Given the description of an element on the screen output the (x, y) to click on. 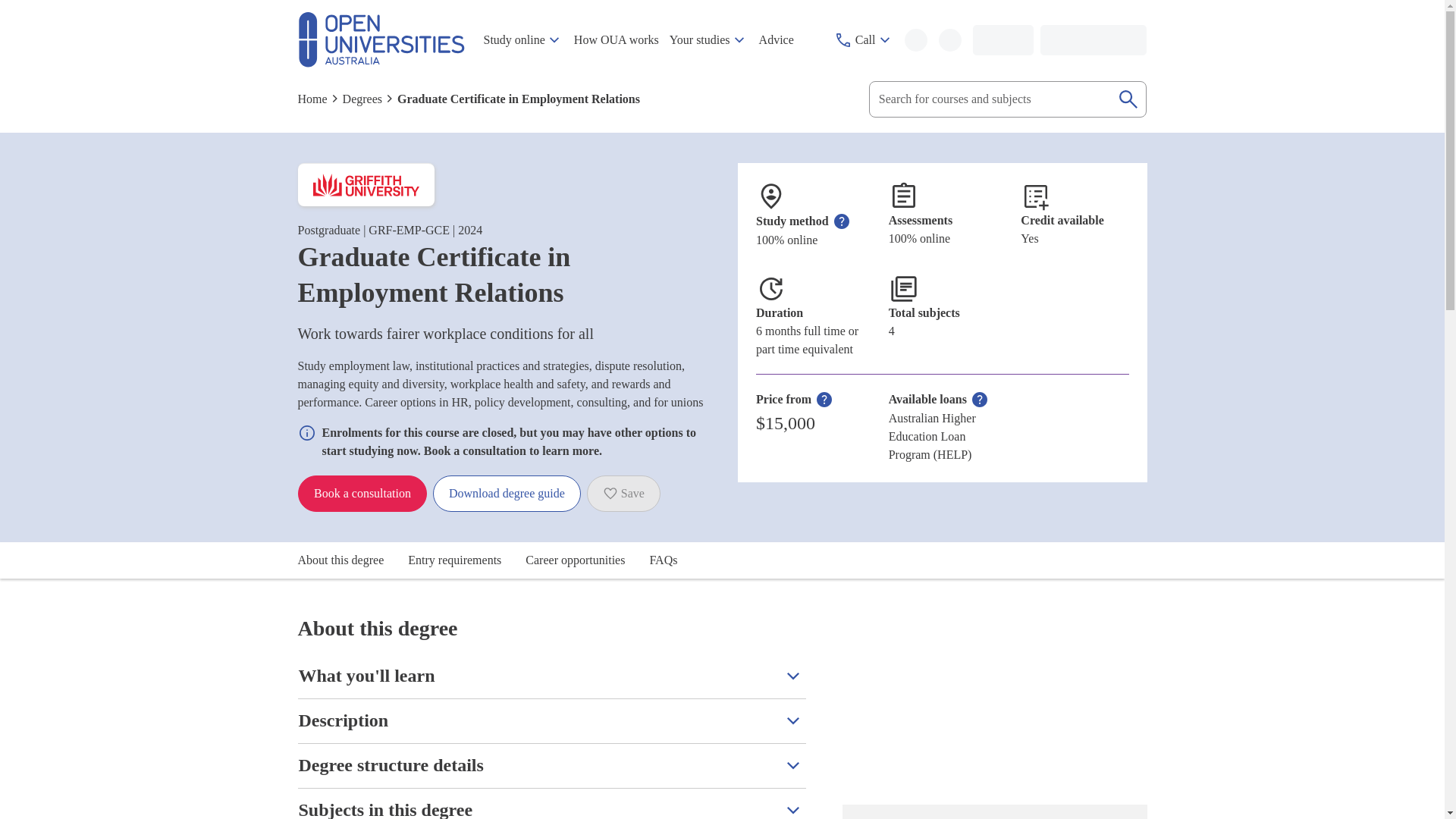
Study online (522, 40)
Video about Business and Management course (994, 700)
Your studies (708, 40)
Loading... (1024, 40)
How OUA works (616, 40)
